Given the description of an element on the screen output the (x, y) to click on. 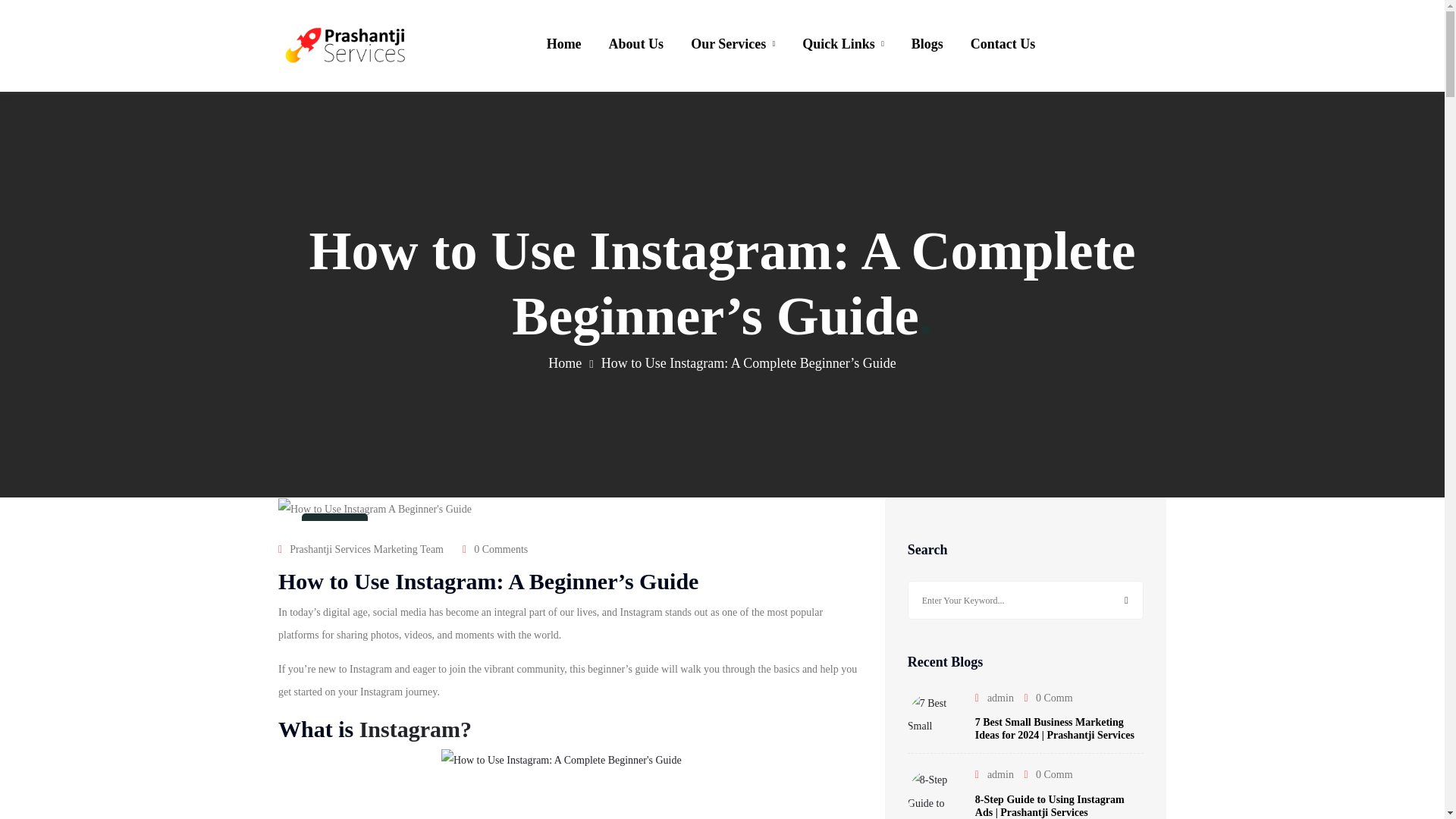
Our Services (732, 44)
How to Use Instagram: A Complete Beginner's Guide - (569, 784)
View all posts by admin (1000, 697)
About Us (635, 44)
View all posts by Prashantji Services Marketing Team (366, 549)
Home (563, 44)
How to Use Instagram: A Complete Beginner's Guide - (374, 508)
Prashantji Services (346, 45)
Blogs (927, 44)
Quick Links (842, 44)
